Given the description of an element on the screen output the (x, y) to click on. 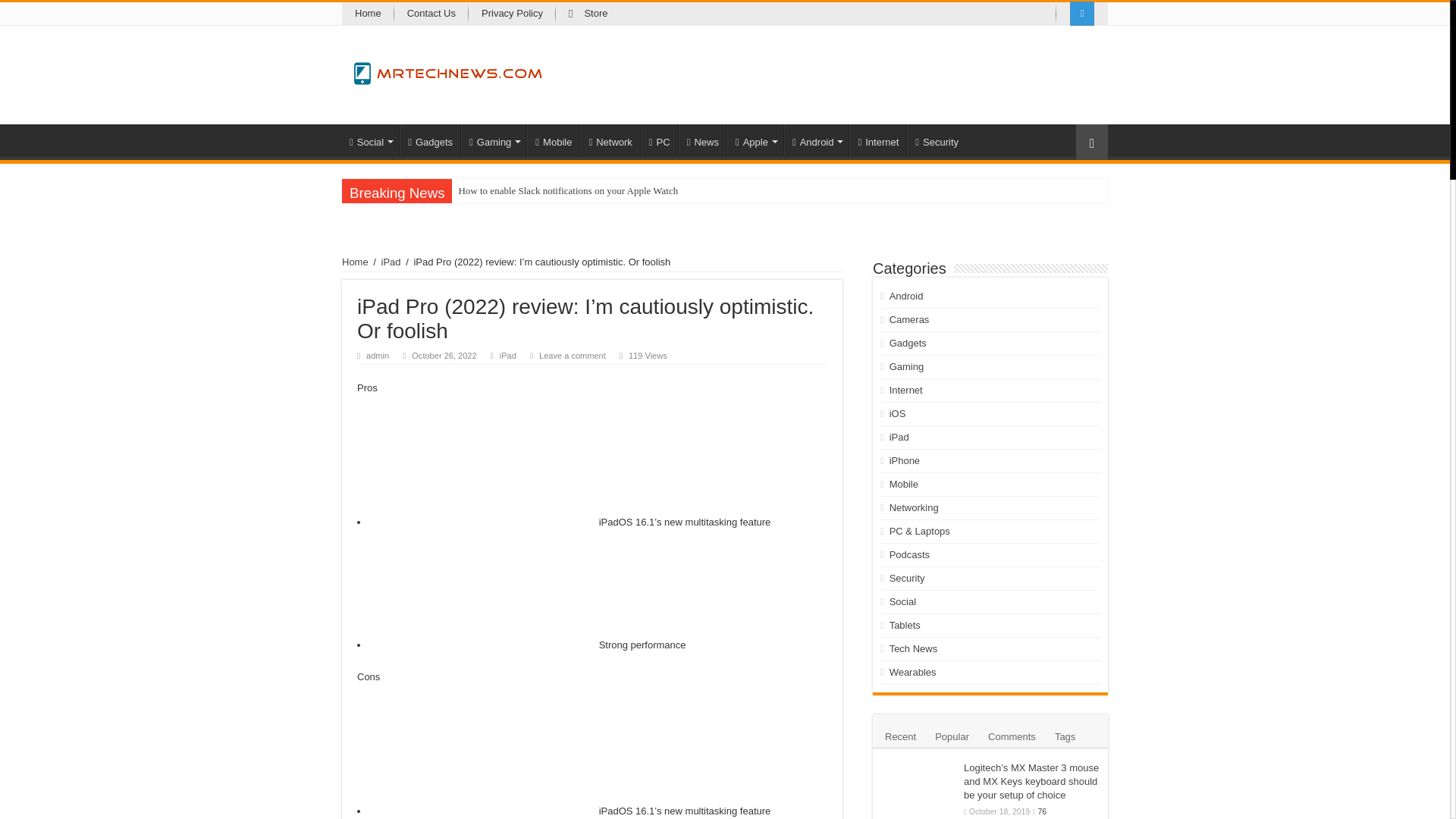
Mr Tech News (448, 70)
Search (11, 9)
Contact Us (431, 13)
Gadgets (429, 140)
Store (588, 13)
Privacy Policy (512, 13)
Gaming (493, 140)
Home (368, 13)
Social (370, 140)
